Given the description of an element on the screen output the (x, y) to click on. 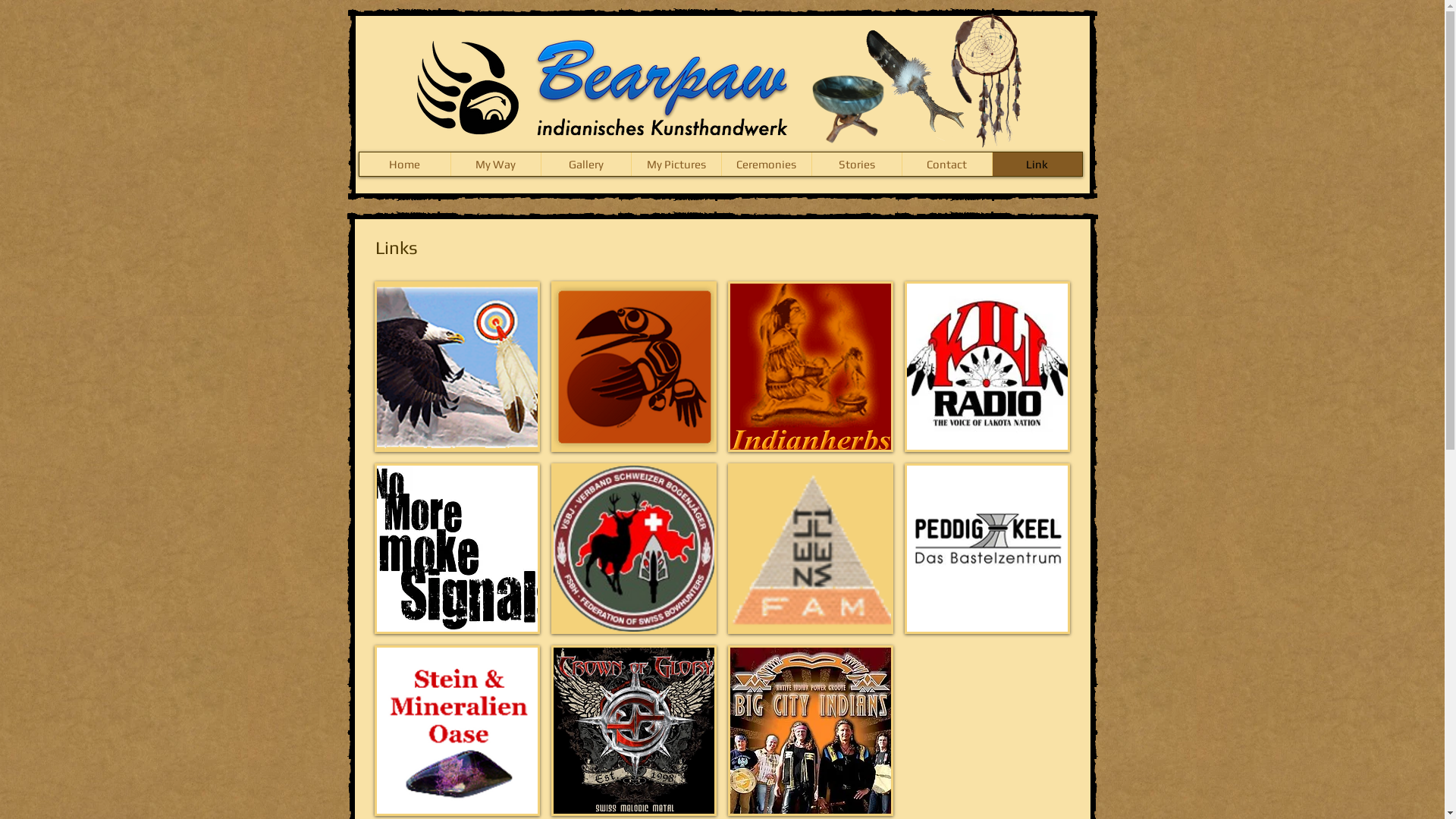
Home Element type: text (404, 163)
My Way Element type: text (495, 163)
Gallery Element type: text (584, 163)
Link Element type: text (1036, 163)
My Pictures Element type: text (675, 163)
Stories Element type: text (856, 163)
Ceremonies Element type: text (765, 163)
Contact Element type: text (945, 163)
